Given the description of an element on the screen output the (x, y) to click on. 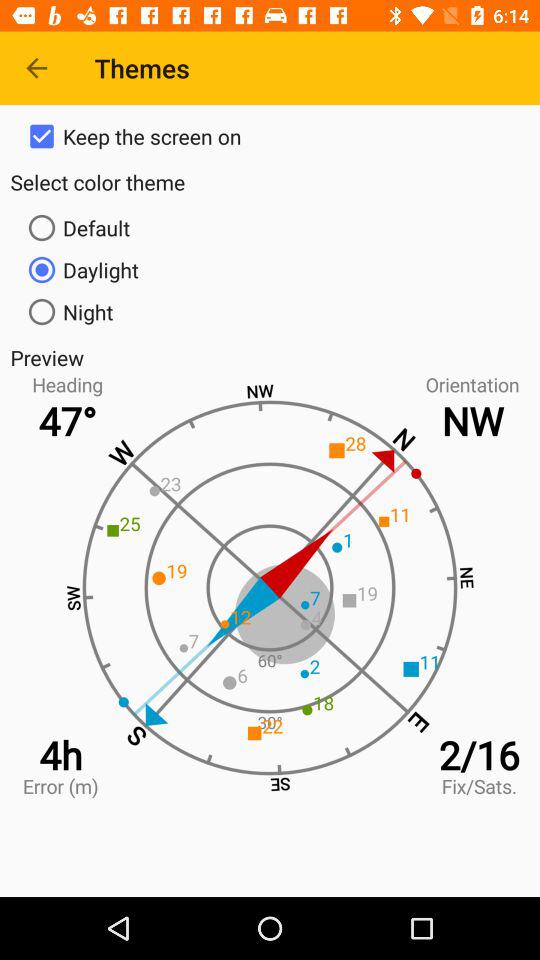
flip until keep the screen (270, 136)
